Given the description of an element on the screen output the (x, y) to click on. 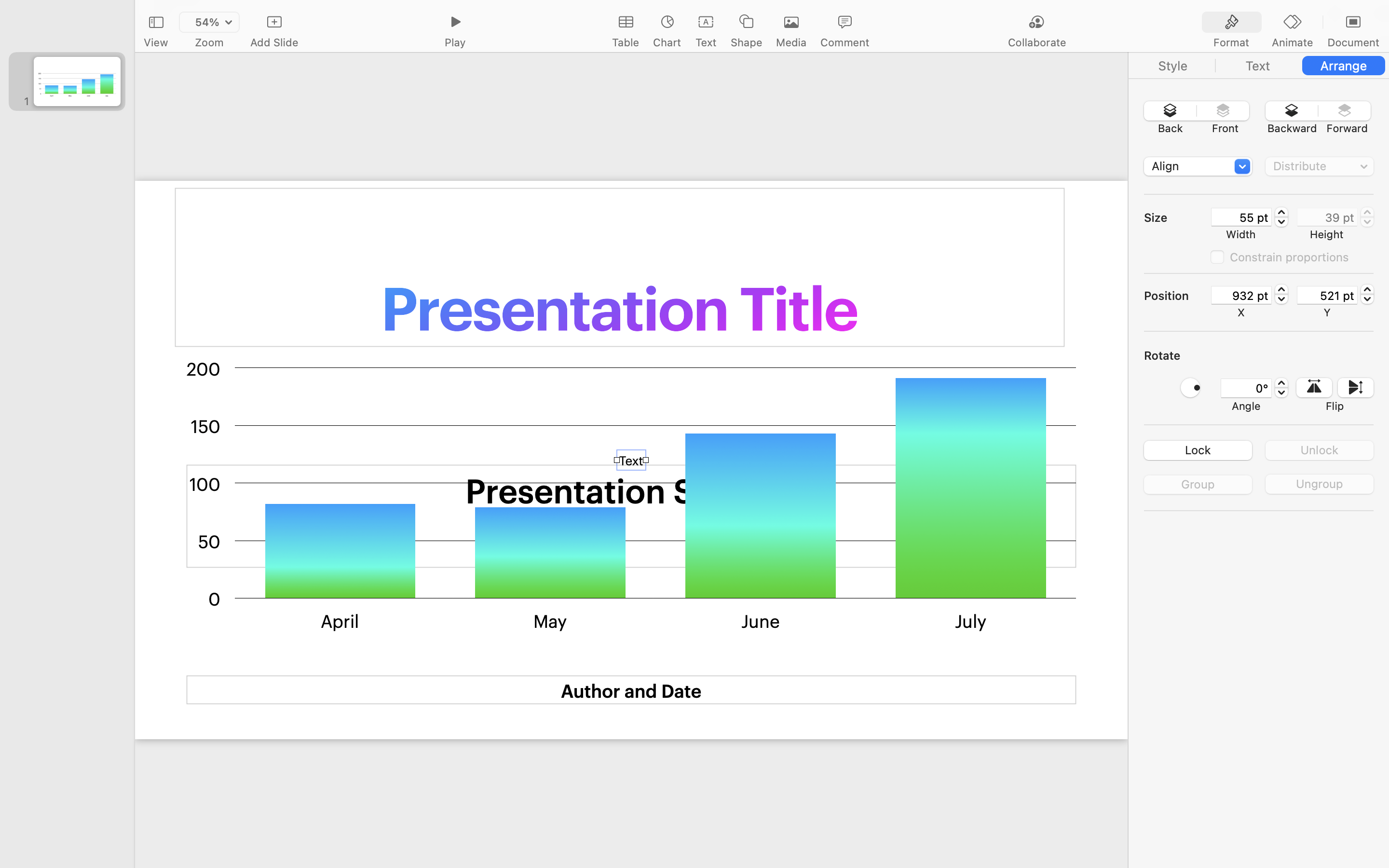
90.0 Element type: AXSlider (1189, 387)
<AXUIElement 0x299dcc570> {pid=1697} Element type: AXGroup (1292, 22)
55 pt Element type: AXTextField (1241, 216)
39 pt Element type: AXTextField (1327, 216)
